Given the description of an element on the screen output the (x, y) to click on. 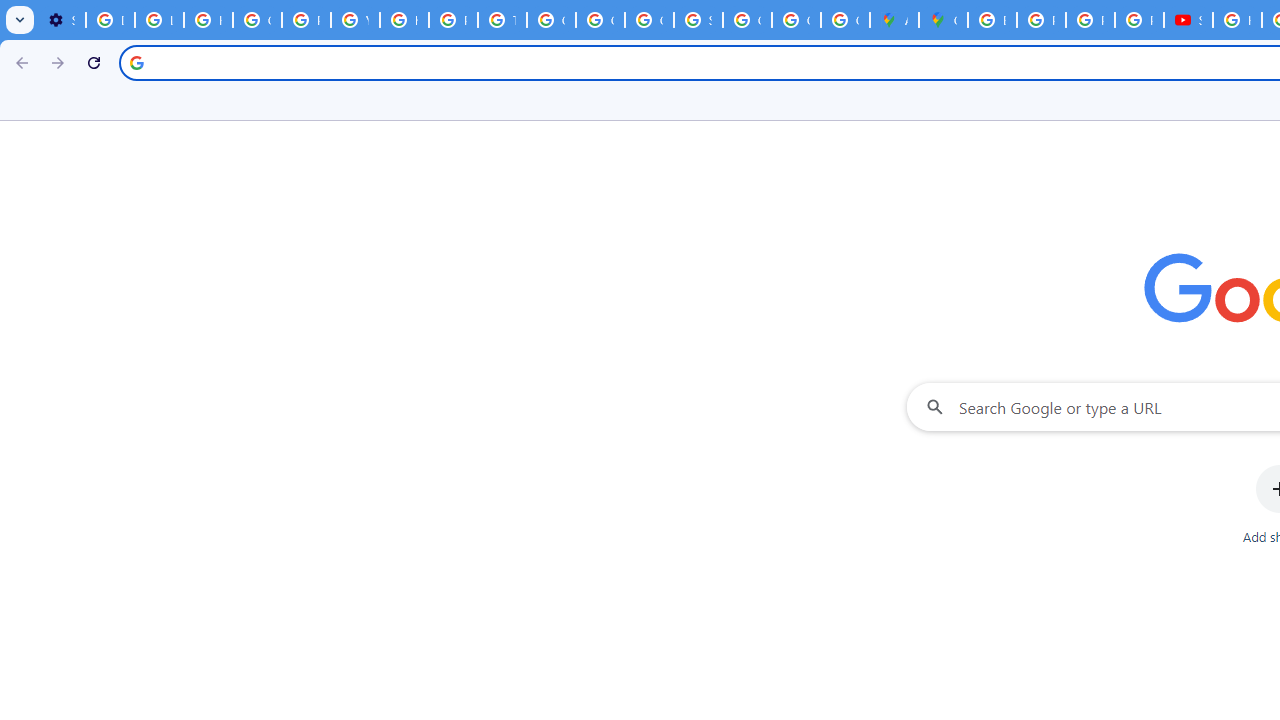
Settings - Customize profile (61, 20)
Privacy Help Center - Policies Help (452, 20)
Privacy Help Center - Policies Help (306, 20)
YouTube (355, 20)
How Chrome protects your passwords - Google Chrome Help (1237, 20)
Delete photos & videos - Computer - Google Photos Help (109, 20)
Learn how to find your photos - Google Photos Help (159, 20)
